Given the description of an element on the screen output the (x, y) to click on. 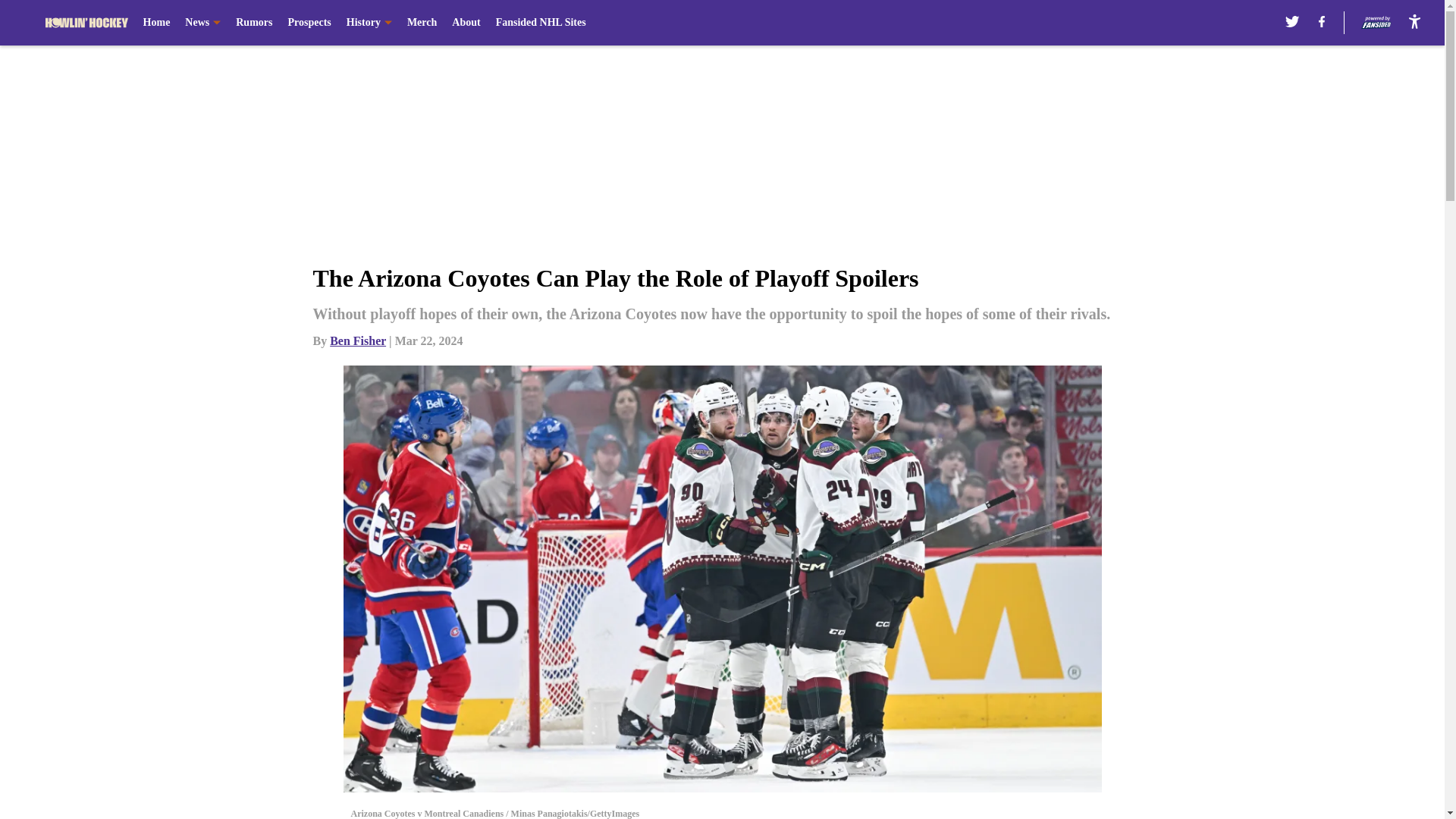
Home (156, 22)
Fansided NHL Sites (541, 22)
Rumors (253, 22)
About (465, 22)
Merch (421, 22)
Prospects (308, 22)
Ben Fisher (357, 340)
